Given the description of an element on the screen output the (x, y) to click on. 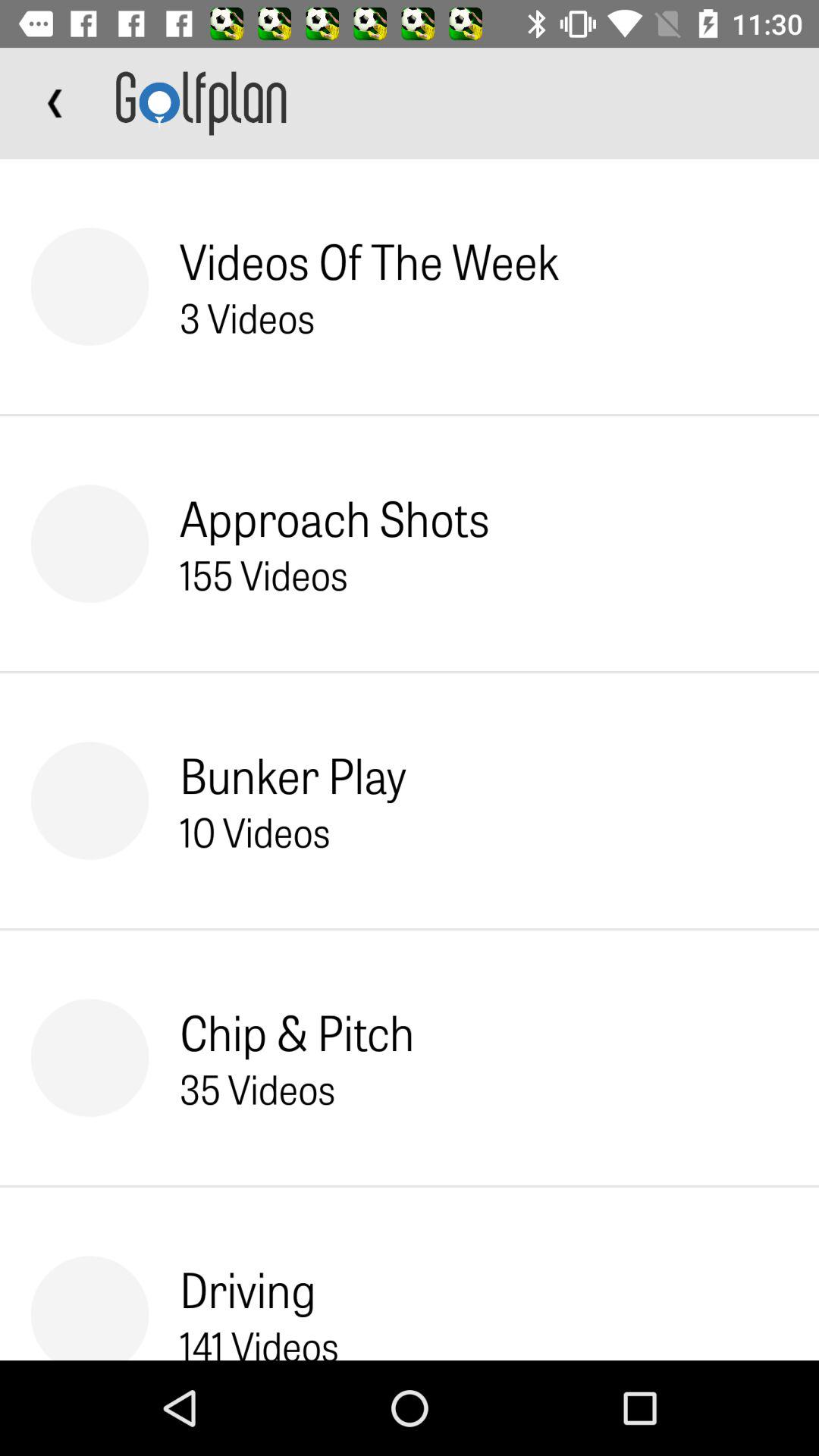
press the item below 3 videos (334, 517)
